Given the description of an element on the screen output the (x, y) to click on. 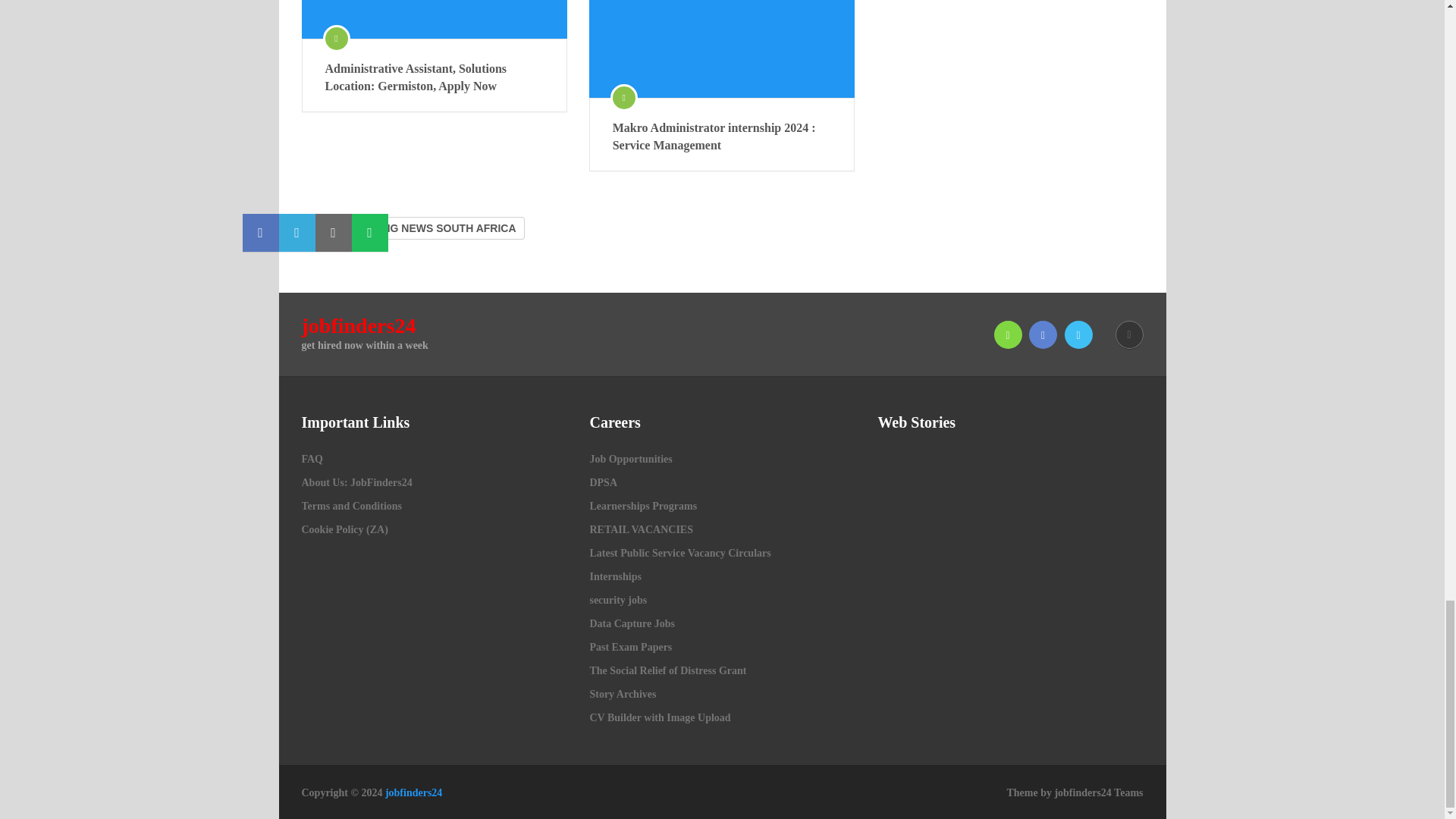
Makro Administrator internship 2024 : Service Management (721, 136)
BREAKING NEWS SOUTH AFRICA (428, 228)
Makro Administrator internship 2024 : Service Management (721, 48)
Makro Administrator internship 2024 : Service Management (721, 136)
 get hired now within a week  (413, 792)
